Given the description of an element on the screen output the (x, y) to click on. 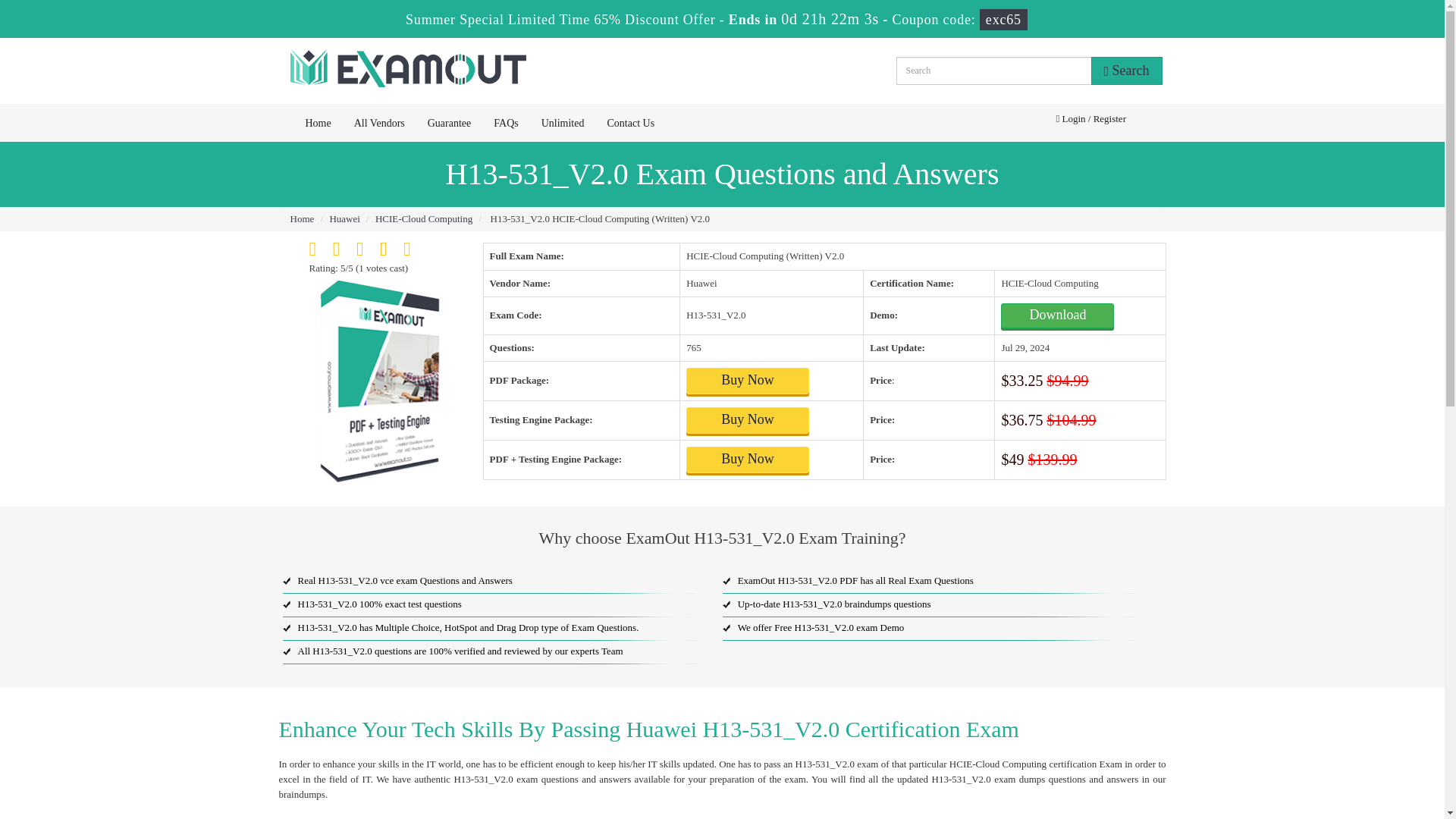
Unlimited (562, 122)
All Vendors (379, 122)
Opens a widget where you can chat to one of our agents (1340, 732)
Huawei (344, 218)
Contact Us (630, 122)
FAQs (505, 122)
Home (318, 122)
Guarantee (449, 122)
Download (1057, 315)
Home (301, 218)
Buy Now (747, 420)
Buy Now (747, 459)
HCIE-Cloud Computing (423, 218)
Buy Now (747, 380)
Search (1125, 70)
